Given the description of an element on the screen output the (x, y) to click on. 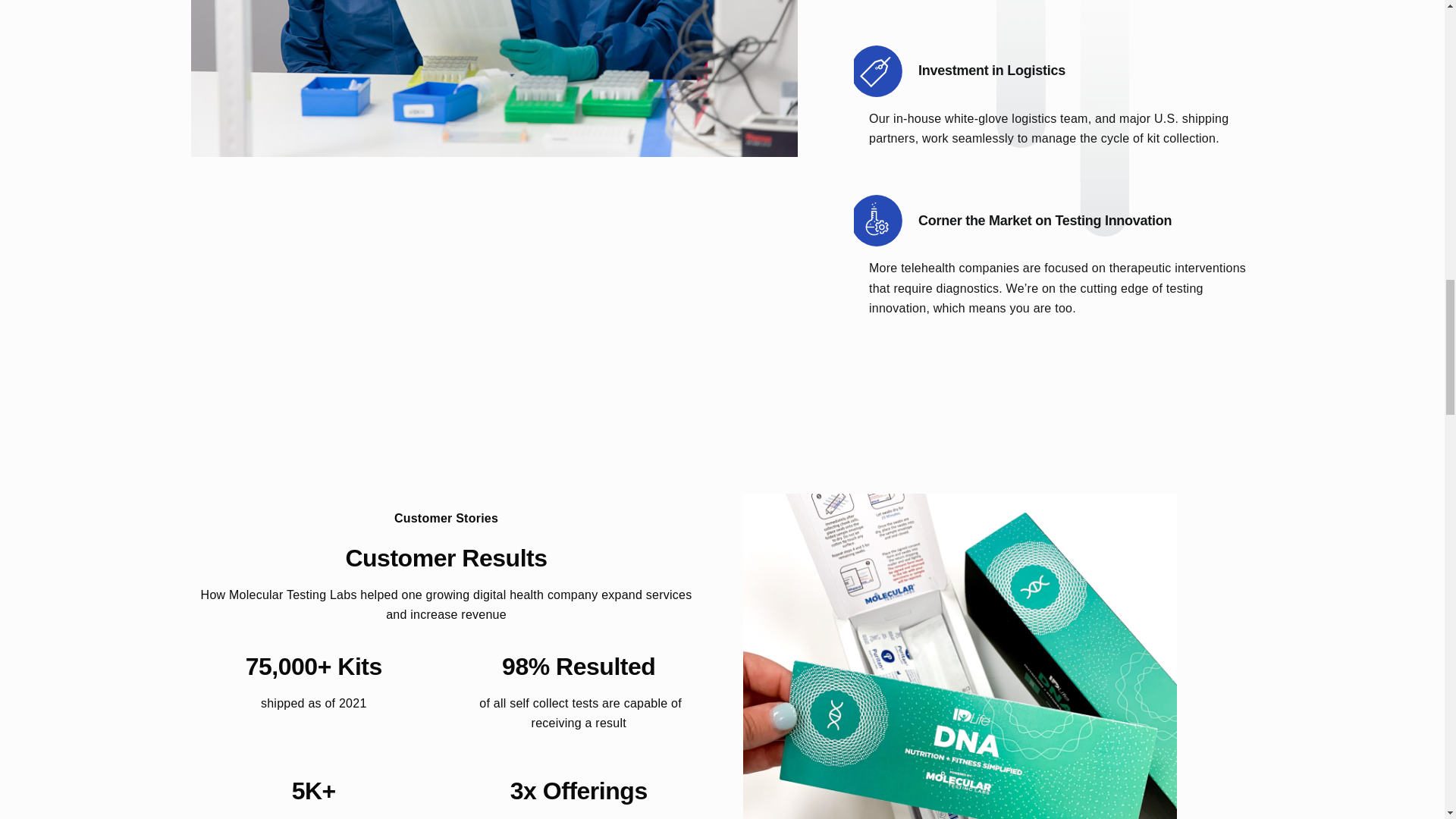
new4 (493, 78)
